Given the description of an element on the screen output the (x, y) to click on. 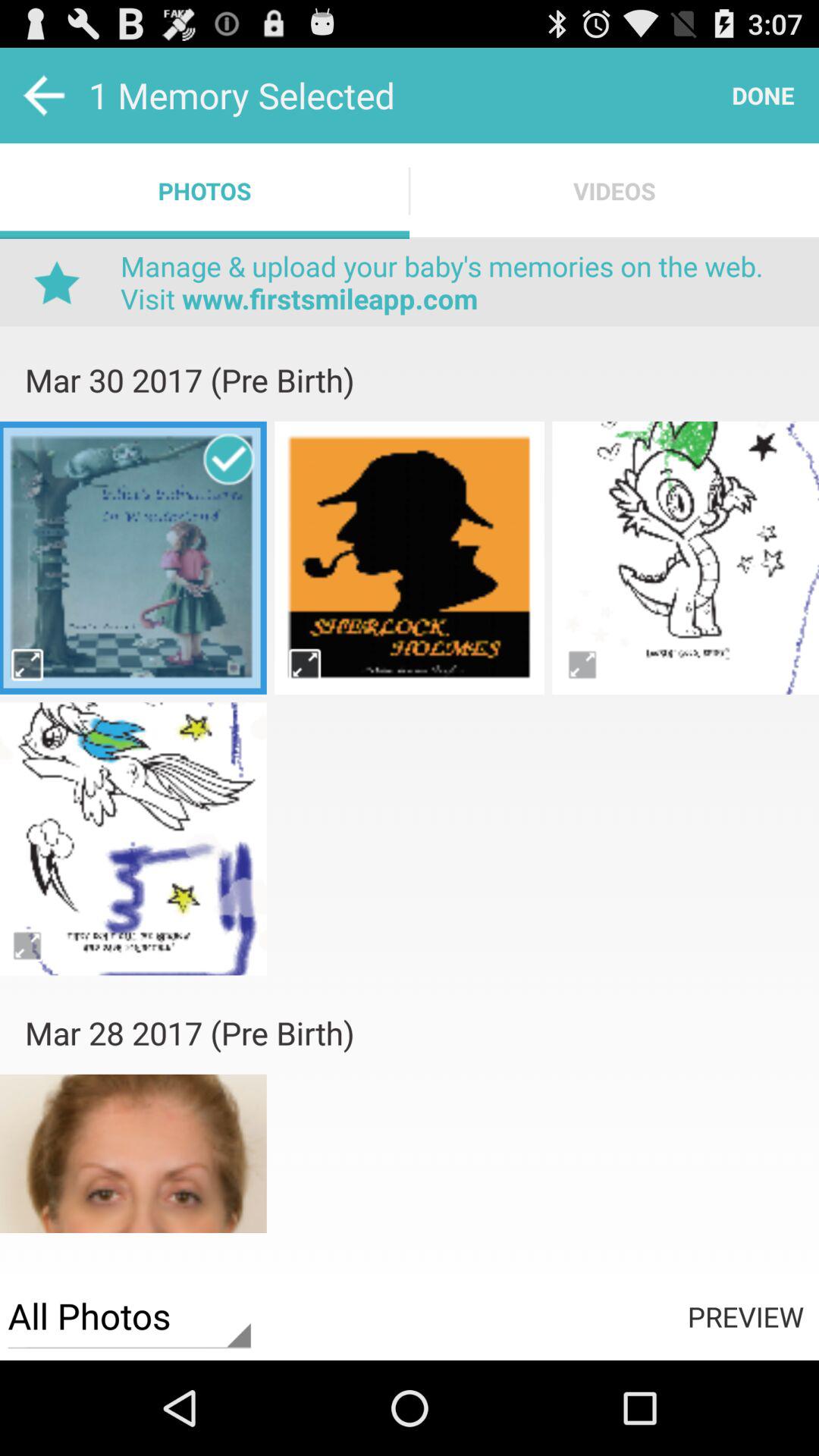
picture oftion (581, 664)
